Given the description of an element on the screen output the (x, y) to click on. 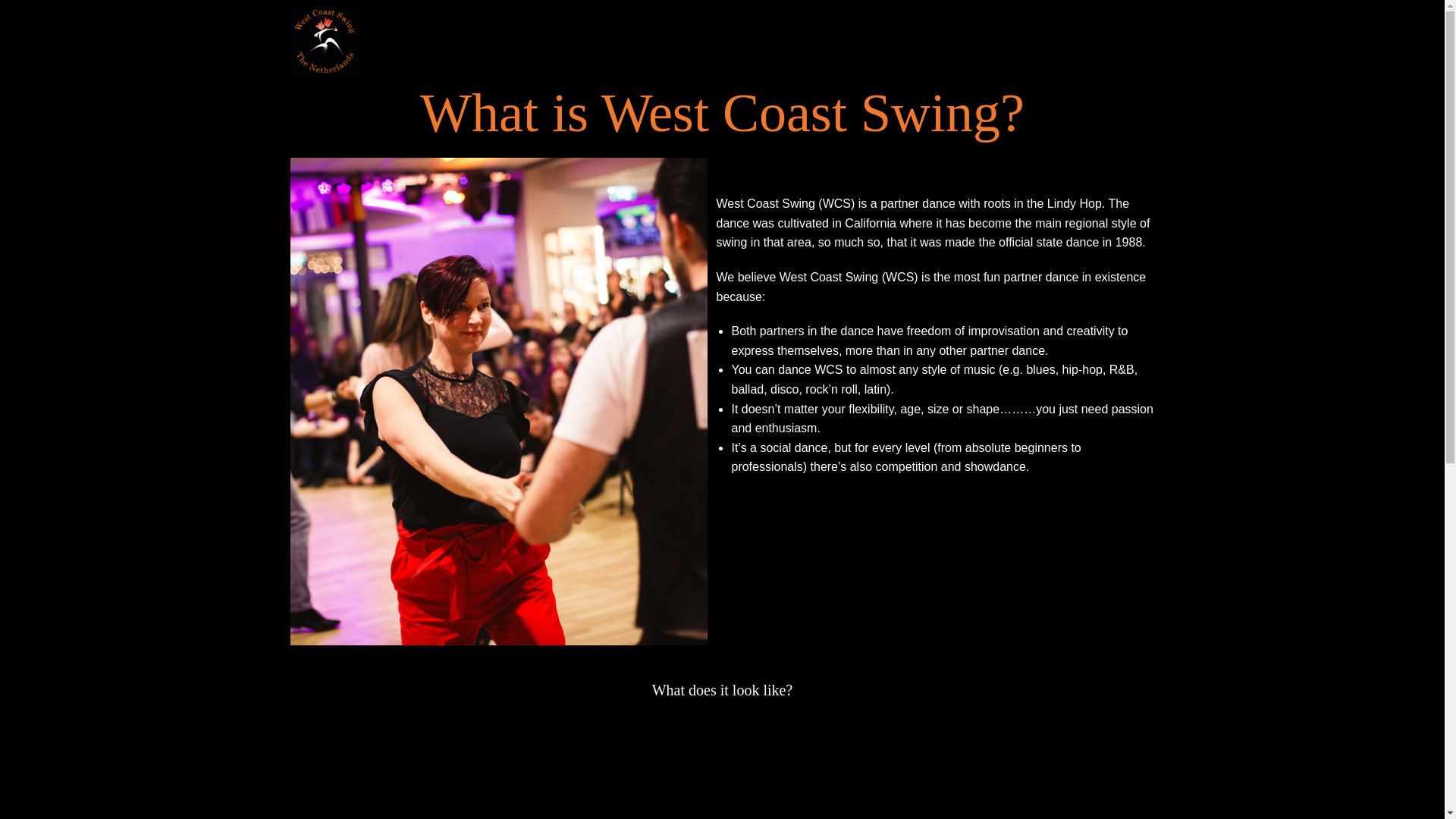
. (323, 41)
